Given the description of an element on the screen output the (x, y) to click on. 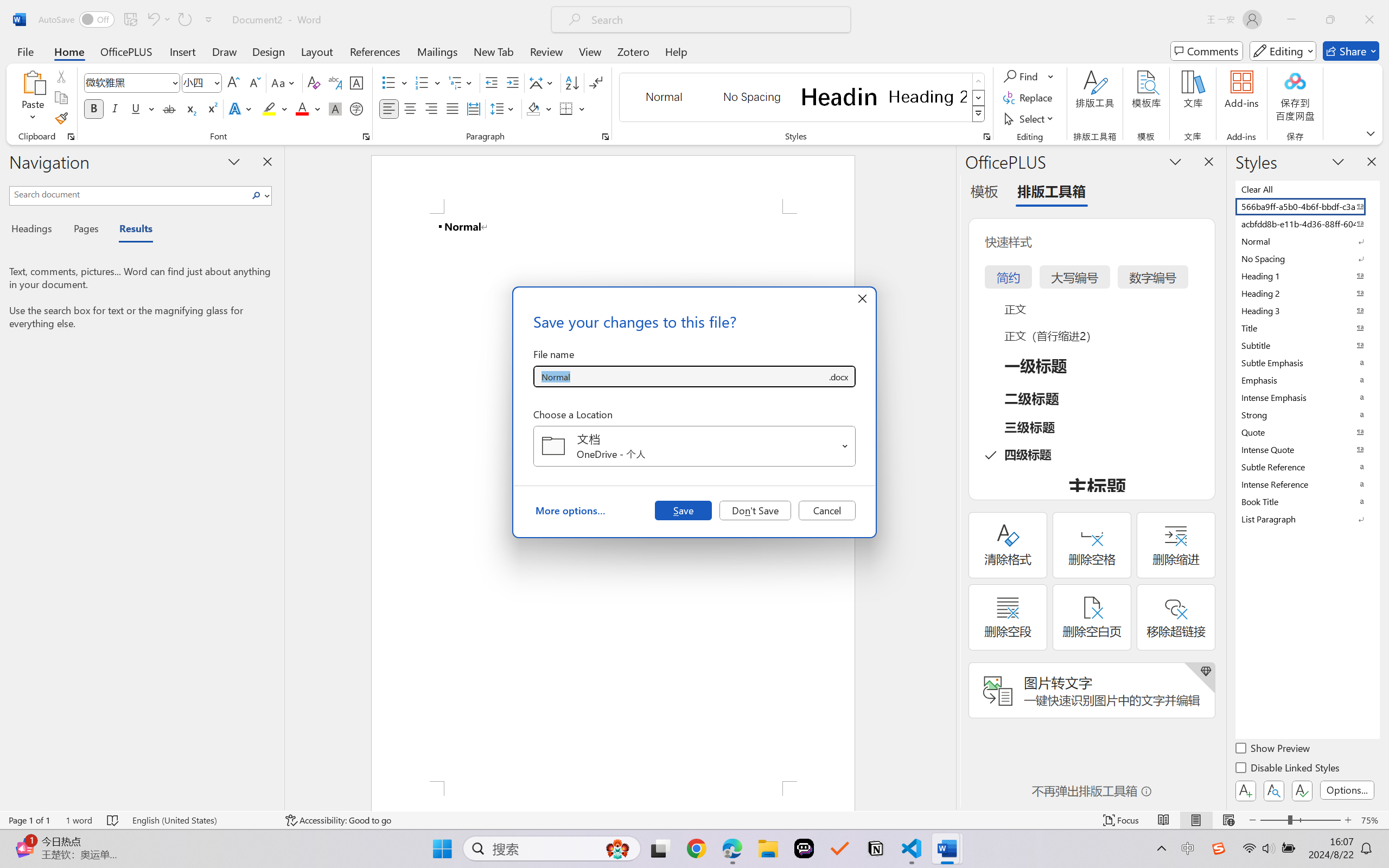
Grow Font (233, 82)
Home (69, 51)
Undo Text Fill Effect (158, 19)
View (589, 51)
Google Chrome (696, 848)
Normal (1306, 240)
acbfdd8b-e11b-4d36-88ff-6049b138f862 (1306, 223)
Zotero (632, 51)
Subscript (190, 108)
Bullets (388, 82)
